Given the description of an element on the screen output the (x, y) to click on. 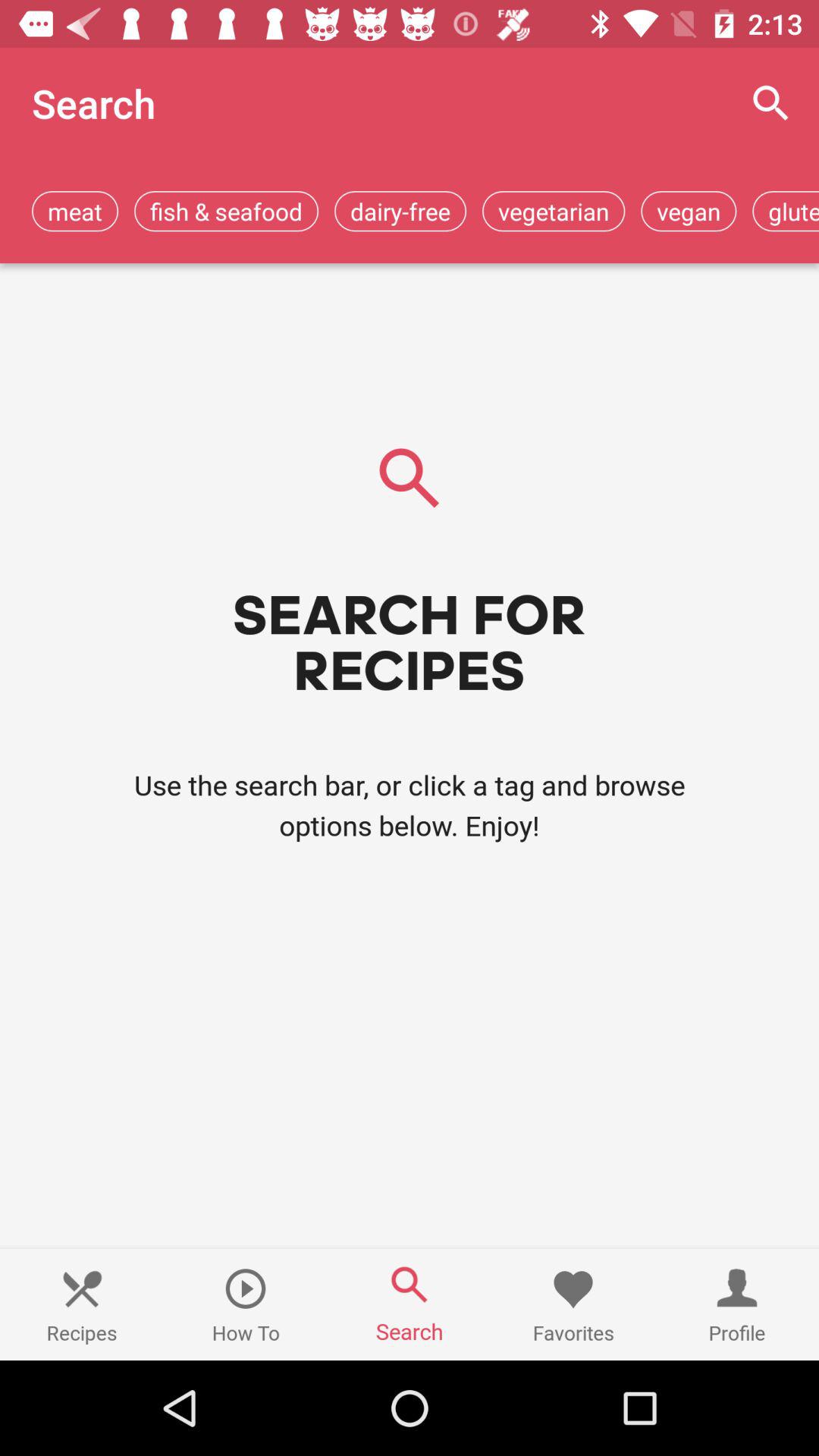
open meat (74, 211)
